Given the description of an element on the screen output the (x, y) to click on. 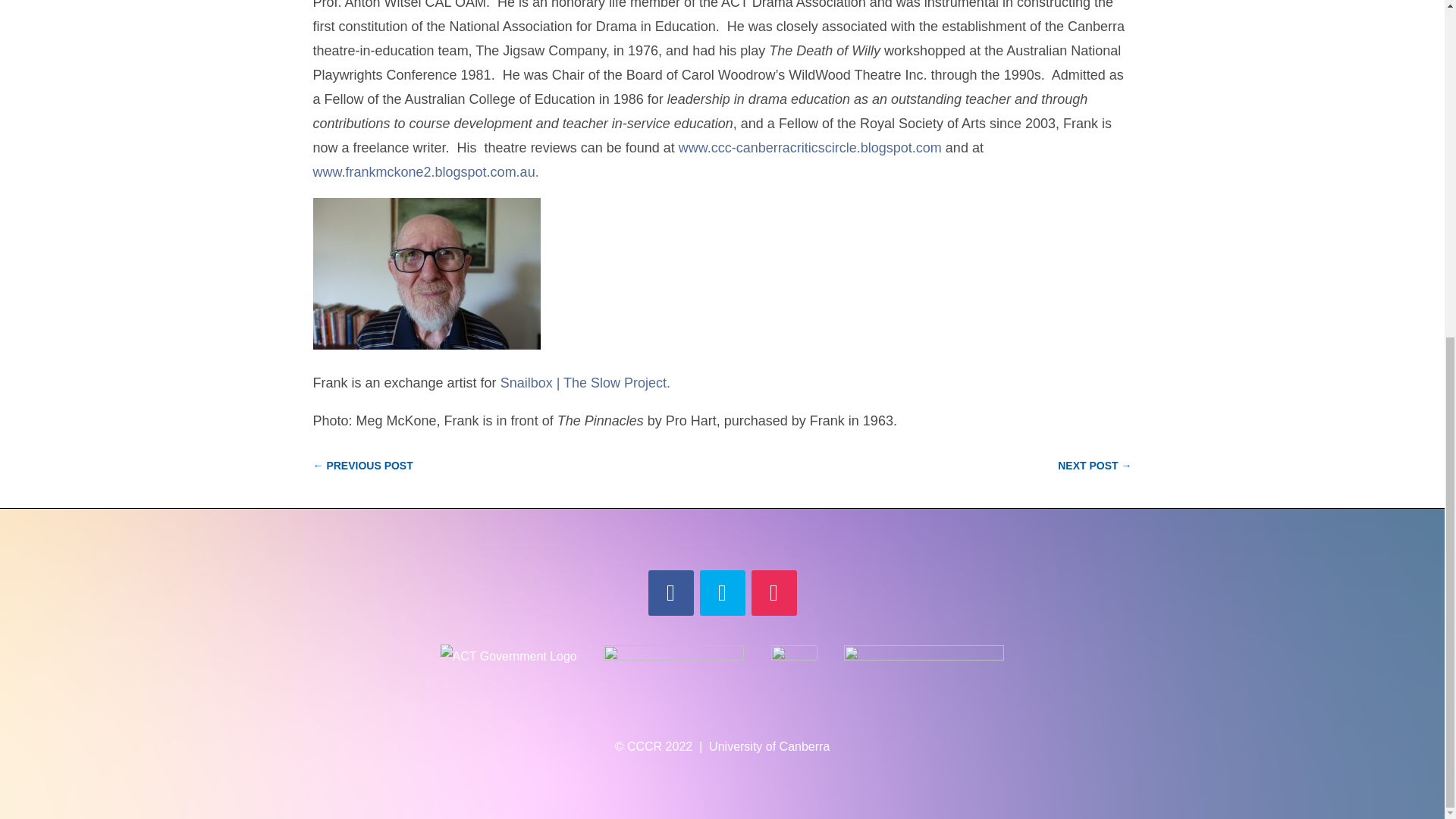
Follow on Instagram (773, 592)
Follow on Twitter (721, 592)
www.ccc-canberracriticscircle.blogspot.com (810, 147)
www.frankmckone2.blogspot.com.au. (425, 171)
Follow on Facebook (670, 592)
